Given the description of an element on the screen output the (x, y) to click on. 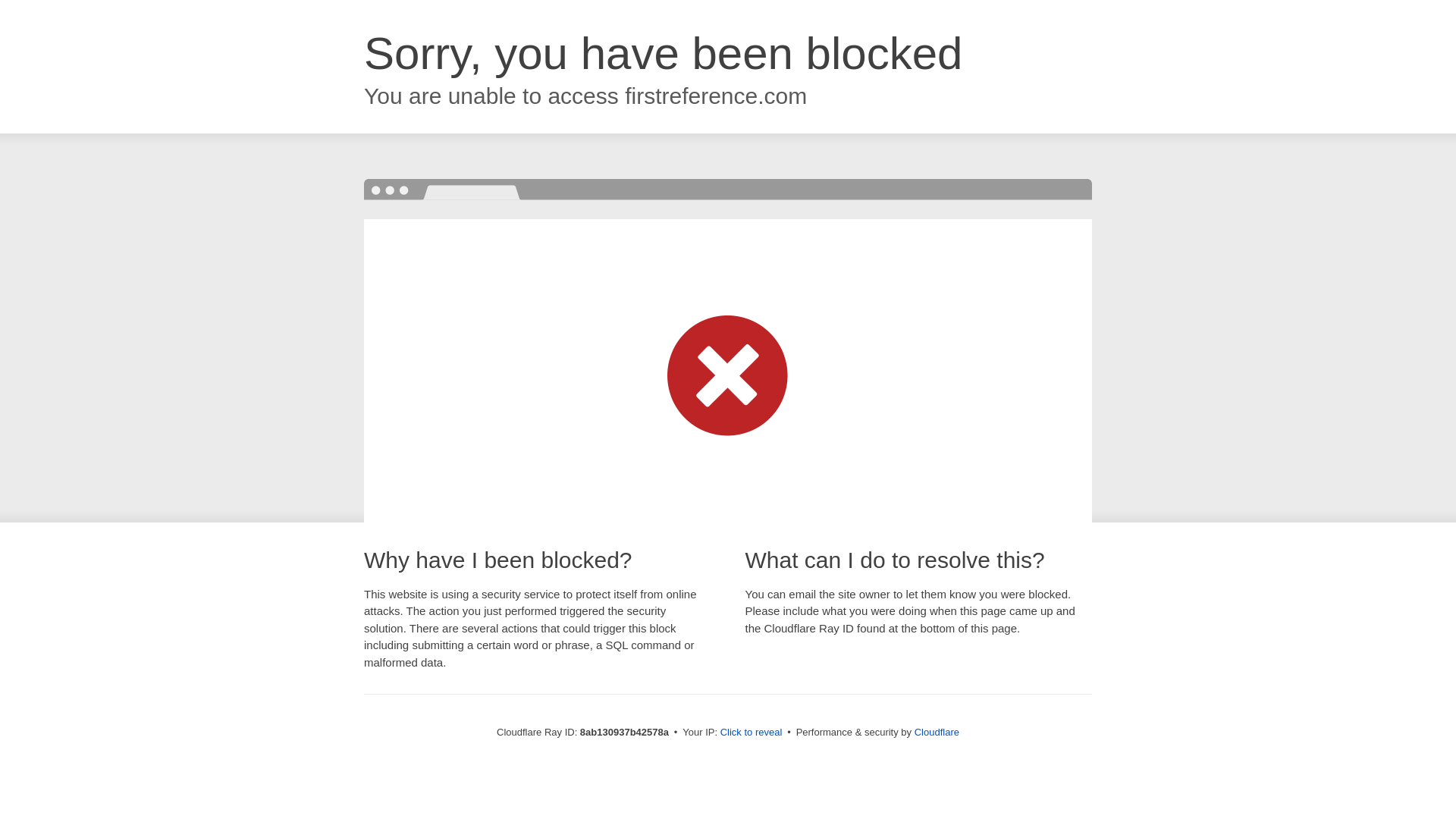
Click to reveal (751, 732)
Cloudflare (936, 731)
